Given the description of an element on the screen output the (x, y) to click on. 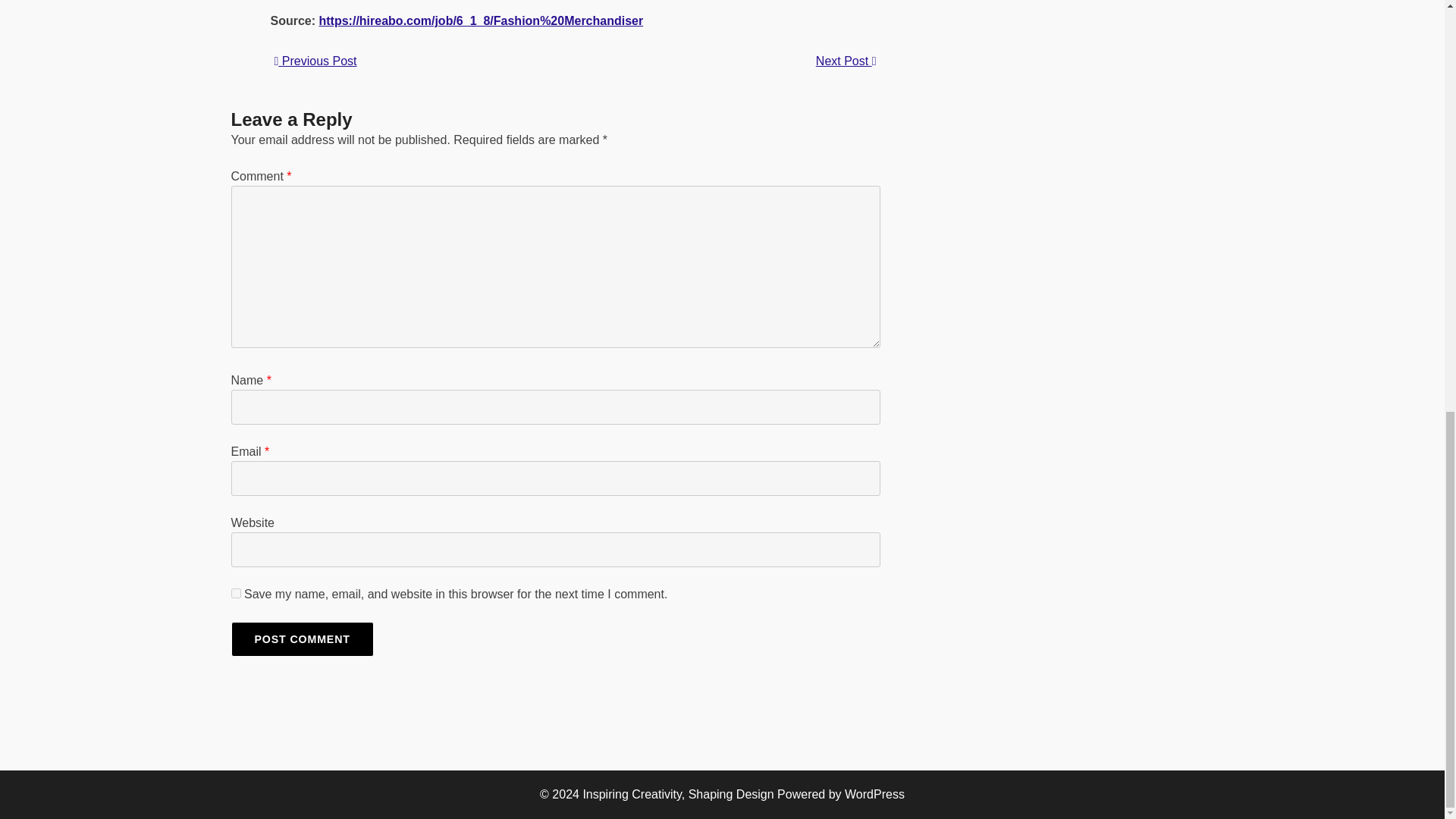
Post Comment (301, 638)
Next Post (845, 61)
yes (235, 593)
Previous Post (315, 60)
Post Comment (301, 638)
